Given the description of an element on the screen output the (x, y) to click on. 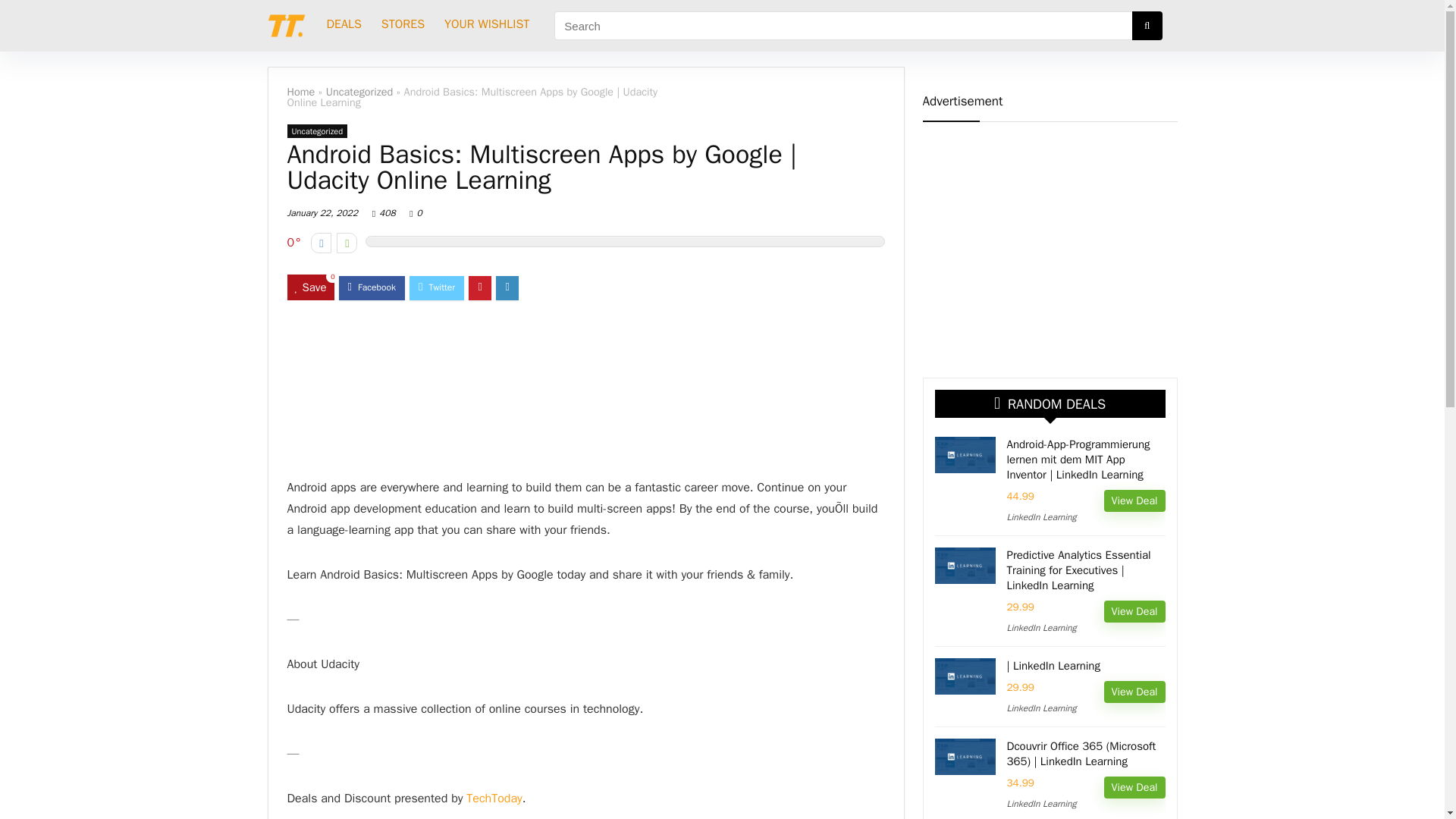
DEALS (344, 25)
View Deal (1134, 500)
TechToday (493, 798)
View Deal (1134, 611)
Uncategorized (316, 131)
LinkedIn Learning (1042, 627)
Advertisement (584, 391)
Uncategorized (359, 91)
Advertisement (1048, 244)
View all posts in Uncategorized (316, 131)
STORES (402, 25)
View Deal (1134, 787)
LinkedIn Learning (1042, 707)
LinkedIn Learning (1042, 803)
Home (300, 91)
